Given the description of an element on the screen output the (x, y) to click on. 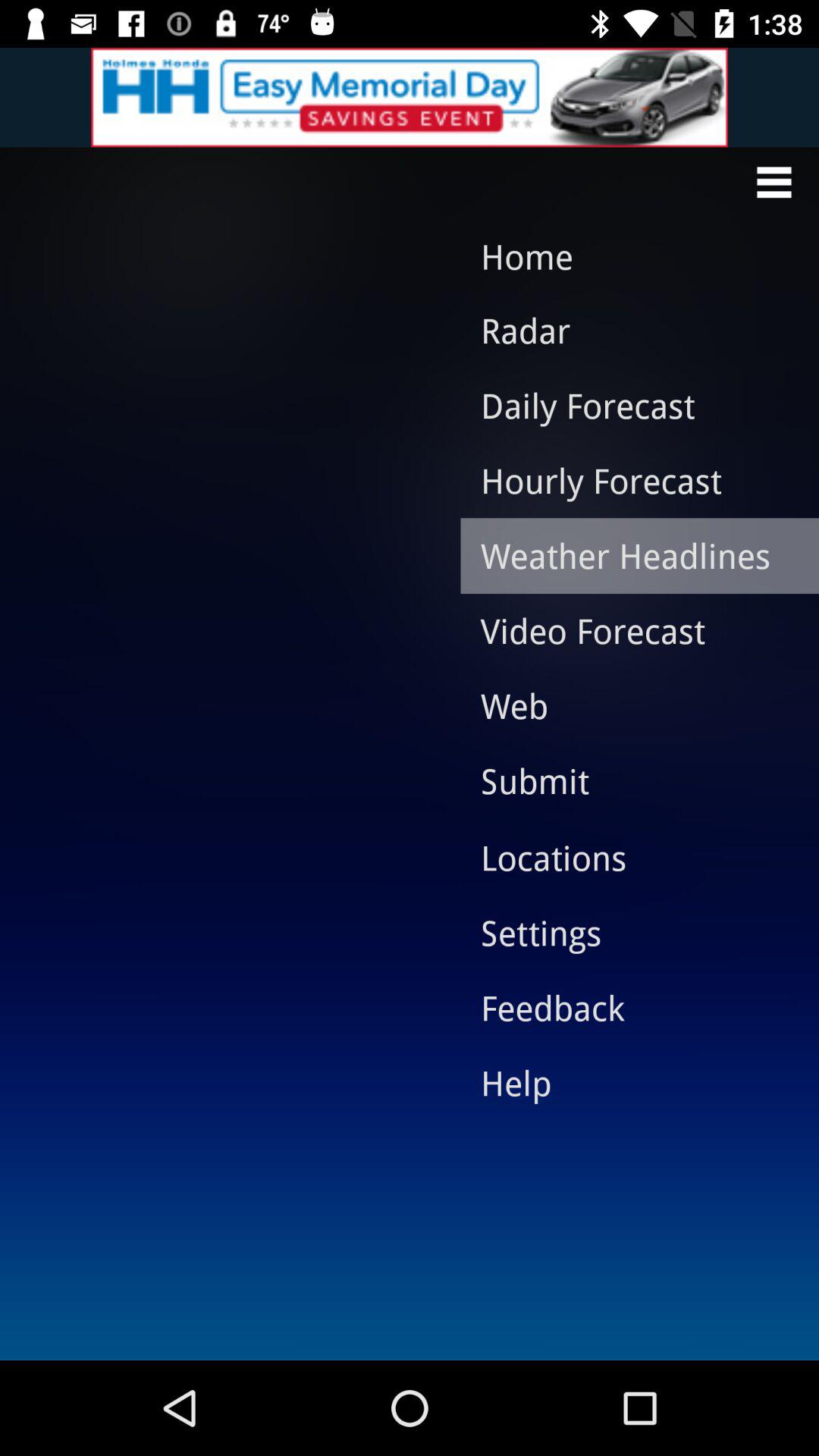
jump until video forecast (627, 630)
